Given the description of an element on the screen output the (x, y) to click on. 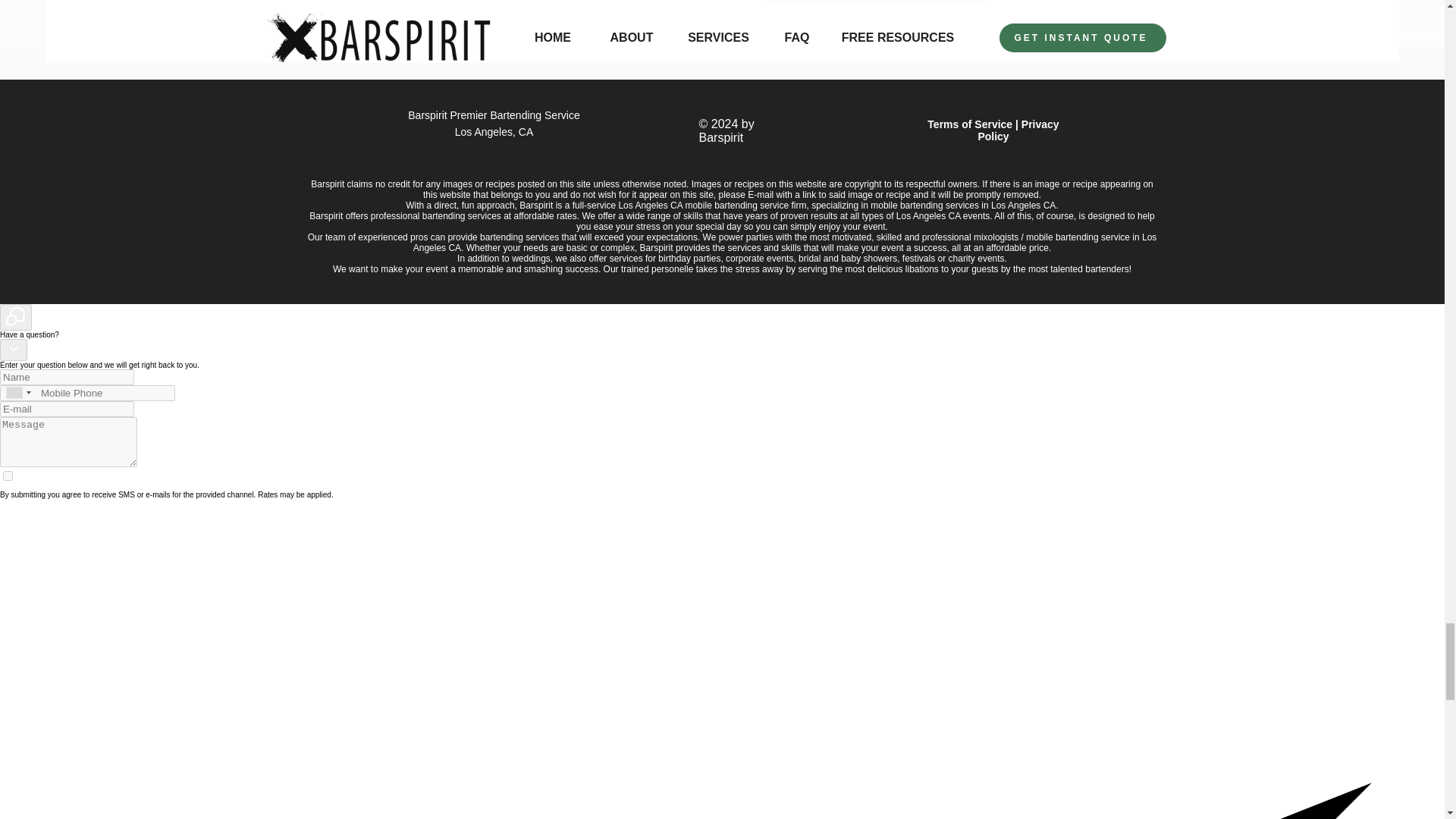
Terms of Service (969, 123)
Privacy Policy (1017, 129)
Barspirit Premier Bartending Service (493, 114)
